Given the description of an element on the screen output the (x, y) to click on. 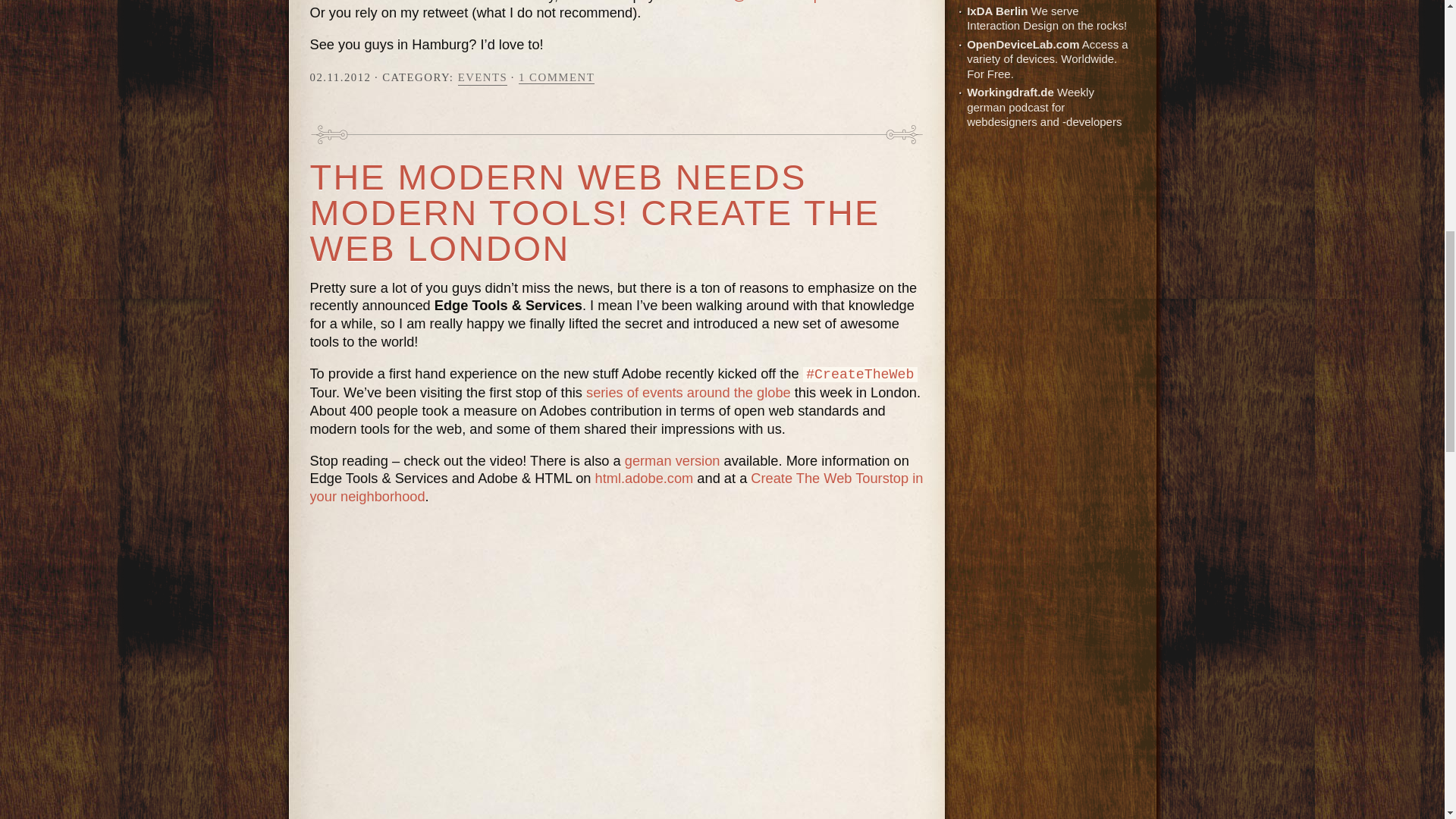
german version (672, 460)
We serve Interaction Design on the rocks! (996, 10)
EVENTS (483, 76)
Weekly german podcast for webdesigners and -developers (1010, 91)
THE MODERN WEB NEEDS MODERN TOOLS! CREATE THE WEB LONDON (593, 213)
series of events around the globe (688, 392)
1 COMMENT (556, 77)
Access a variety of devices. Worldwide. For Free. (1022, 43)
The Modern Web Needs Modern Tools! Create The Web London (593, 213)
html.adobe.com (644, 478)
Create The Web Tourstop in your neighborhood (615, 487)
